Given the description of an element on the screen output the (x, y) to click on. 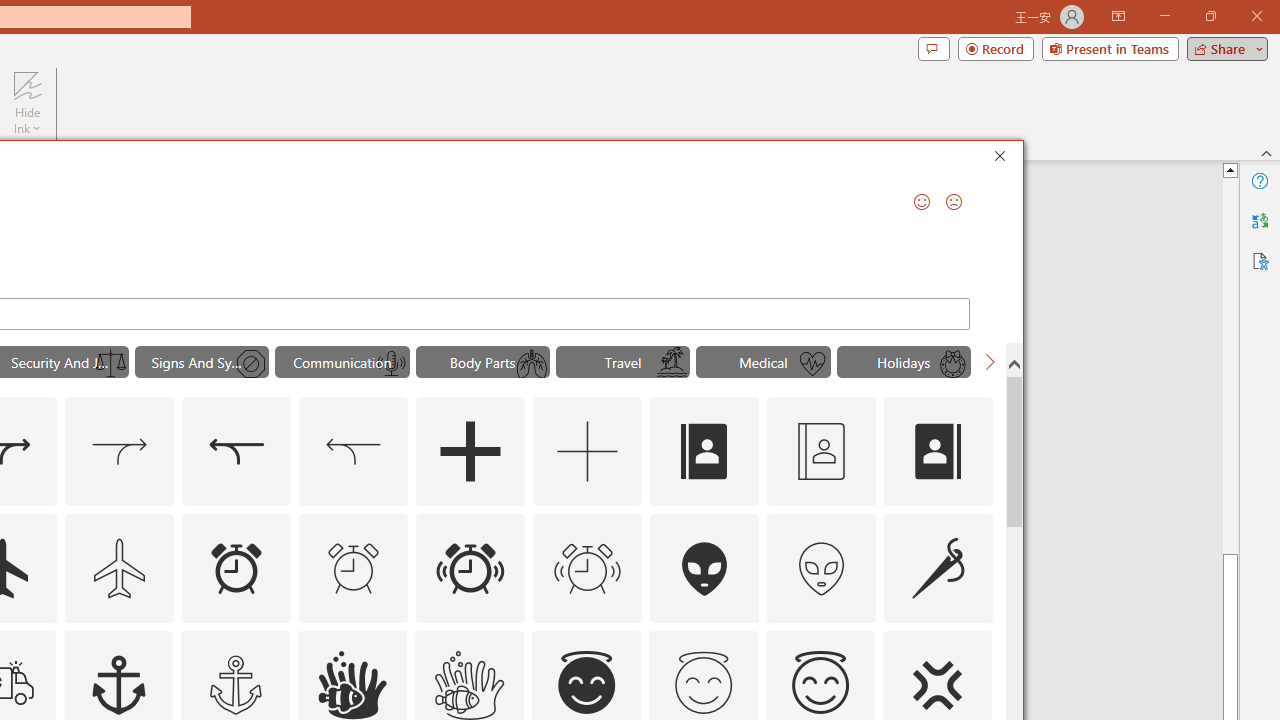
AutomationID: Icons_AlterationsTailoring (938, 568)
AutomationID: _134_Angel_Face_A (586, 682)
"Travel" Icons. (622, 362)
AutomationID: Icons_Airplane_M (120, 568)
"Body Parts" Icons. (483, 362)
AutomationID: Icons_Acquisition_LTR_M (120, 452)
Next Search Suggestion (990, 362)
AutomationID: Icons_AlarmRinging_M (587, 568)
